Given the description of an element on the screen output the (x, y) to click on. 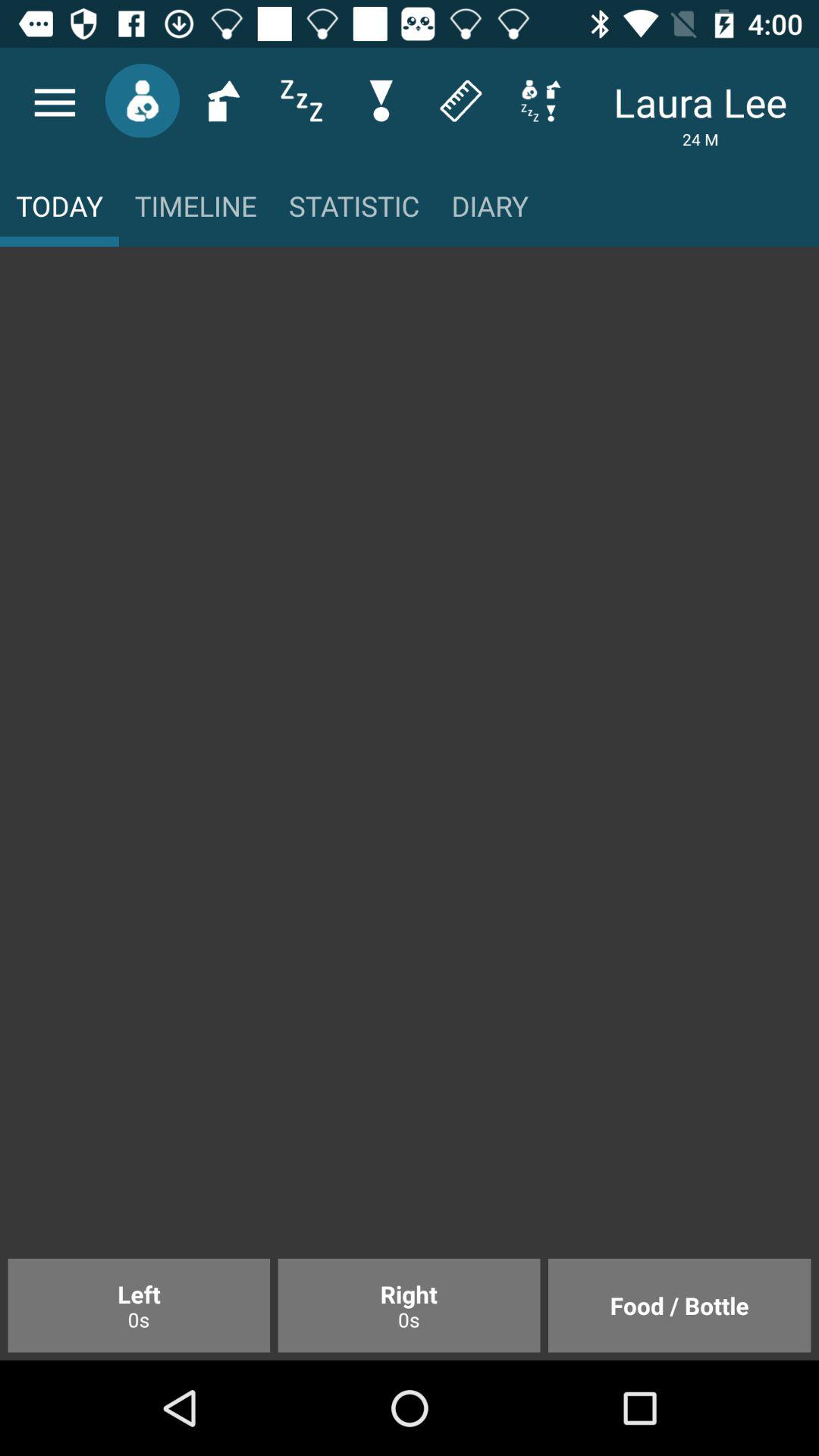
scroll to the left
0s icon (138, 1305)
